Given the description of an element on the screen output the (x, y) to click on. 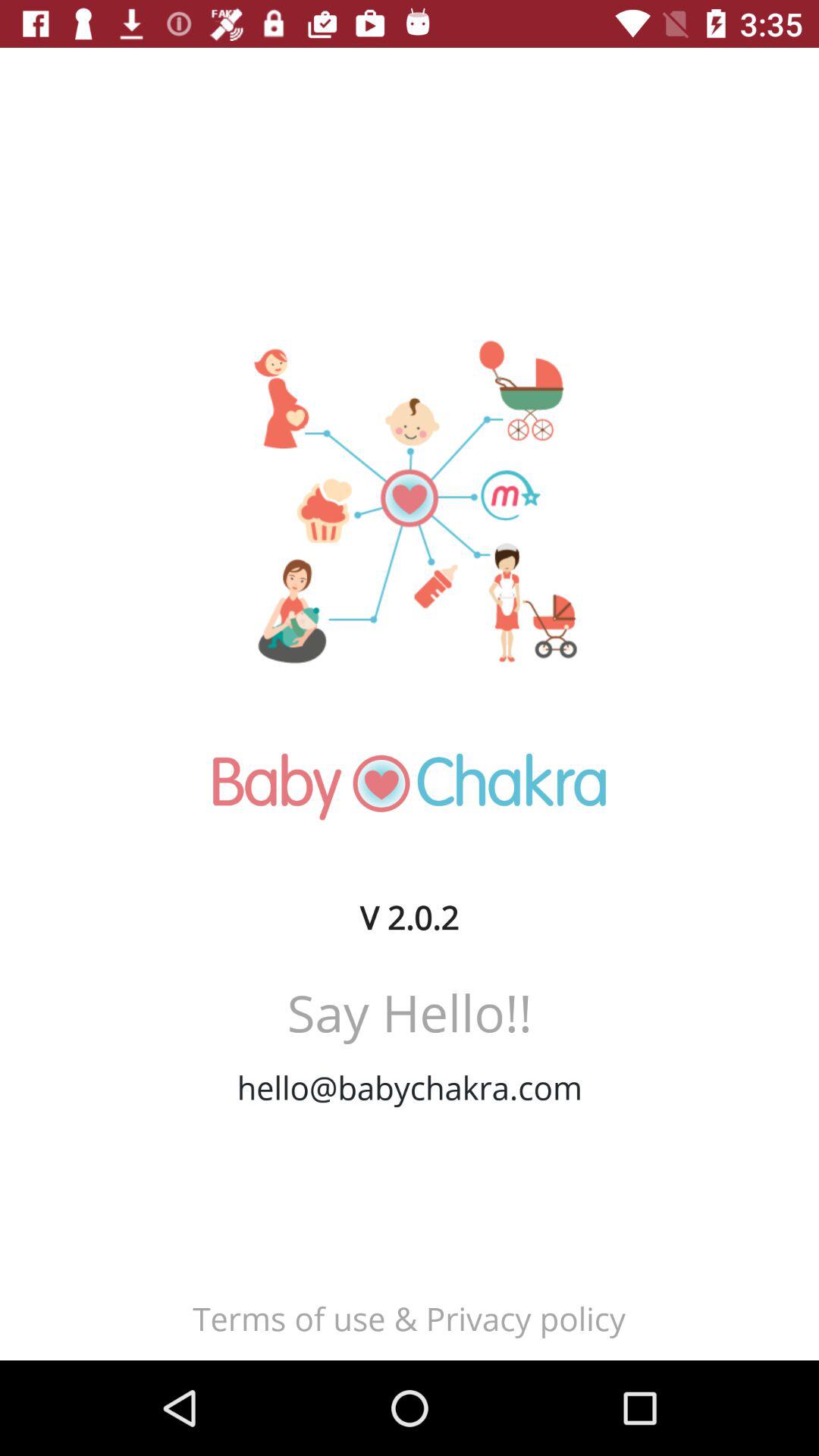
turn on the hello@babychakra.com icon (409, 1087)
